Given the description of an element on the screen output the (x, y) to click on. 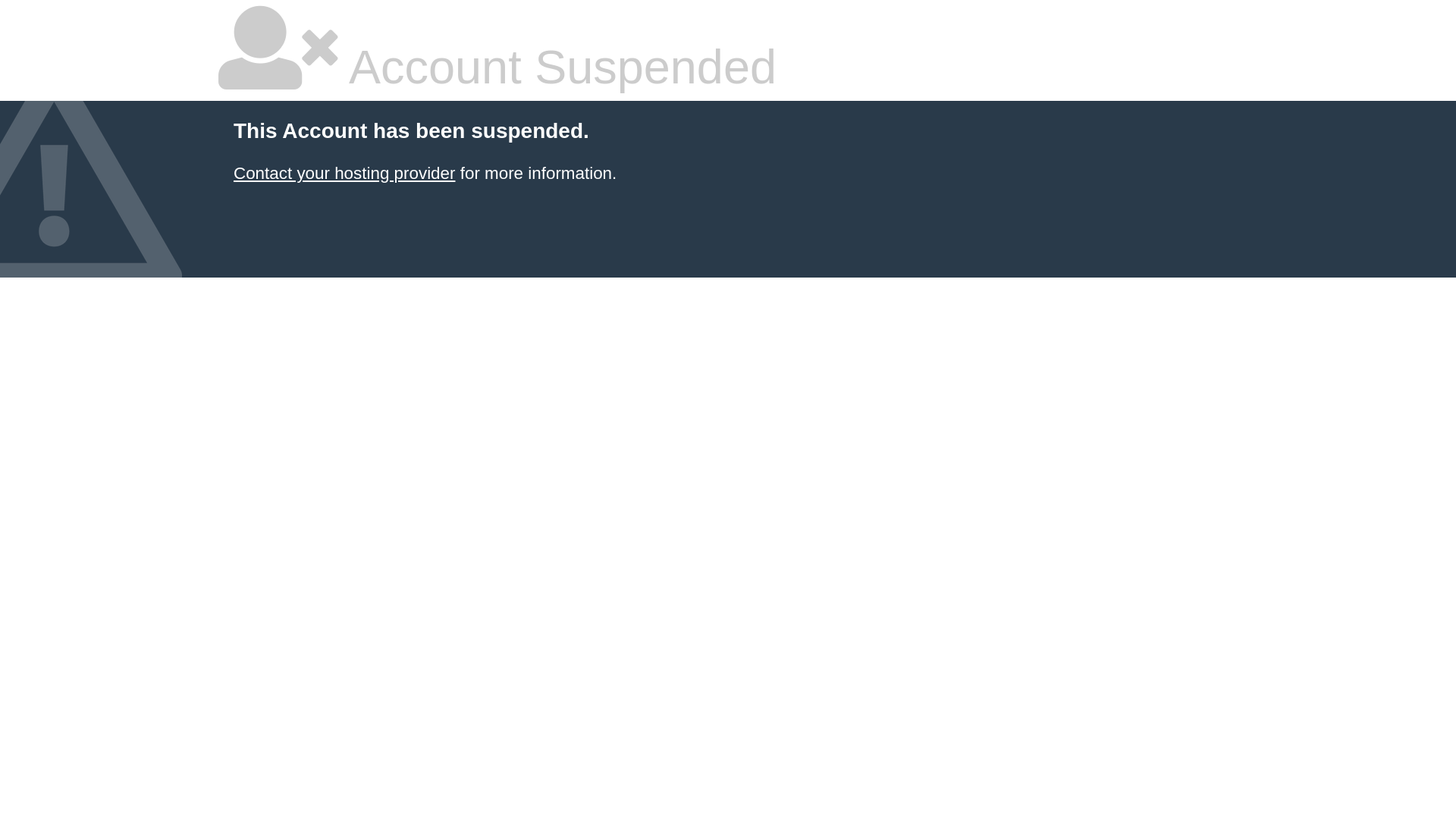
Contact your hosting provider Element type: text (344, 172)
